Given the description of an element on the screen output the (x, y) to click on. 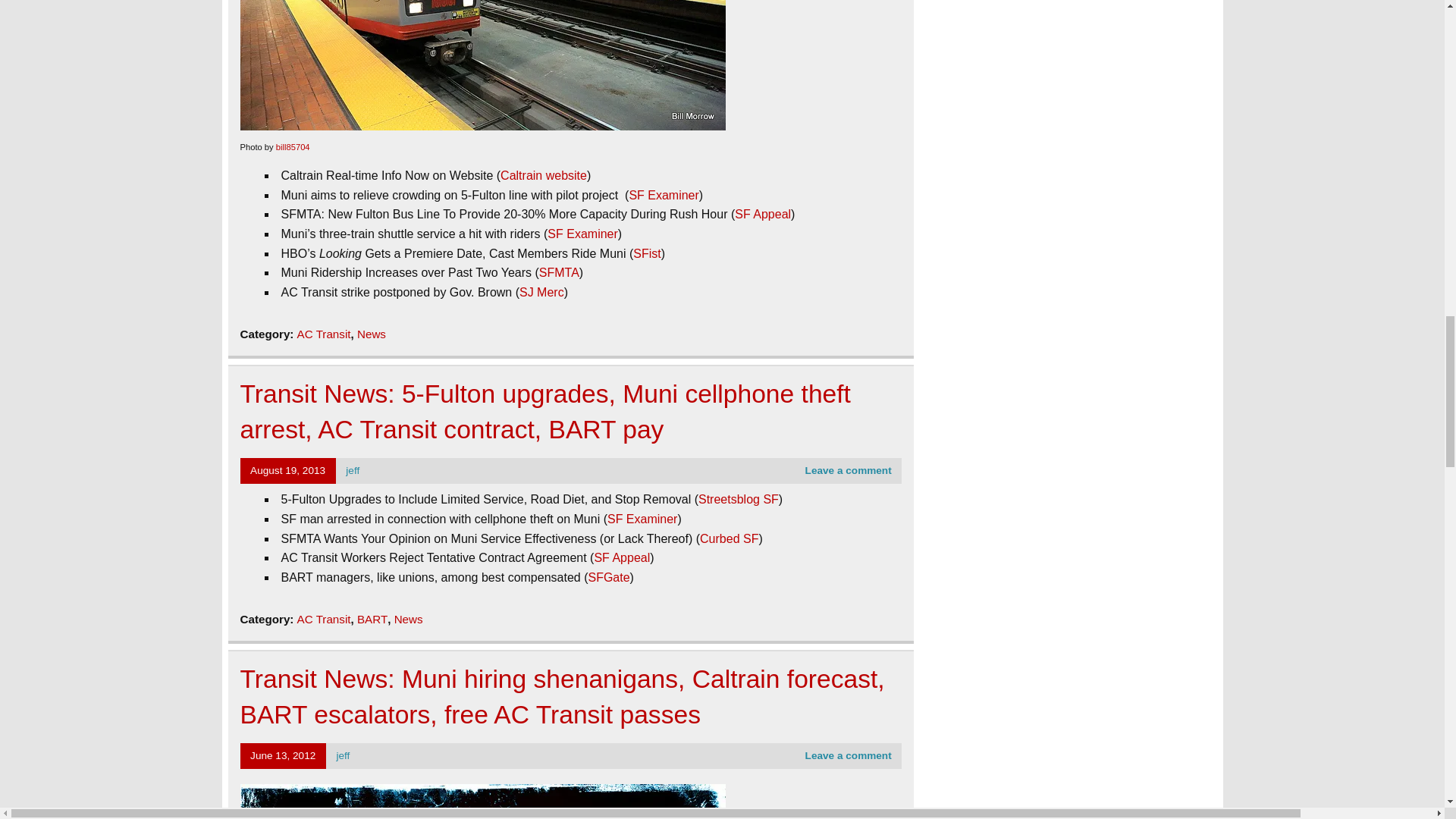
11:55 am (287, 470)
View all posts by jeff (352, 470)
View all posts by jeff (342, 755)
11:00 am (282, 755)
